Given the description of an element on the screen output the (x, y) to click on. 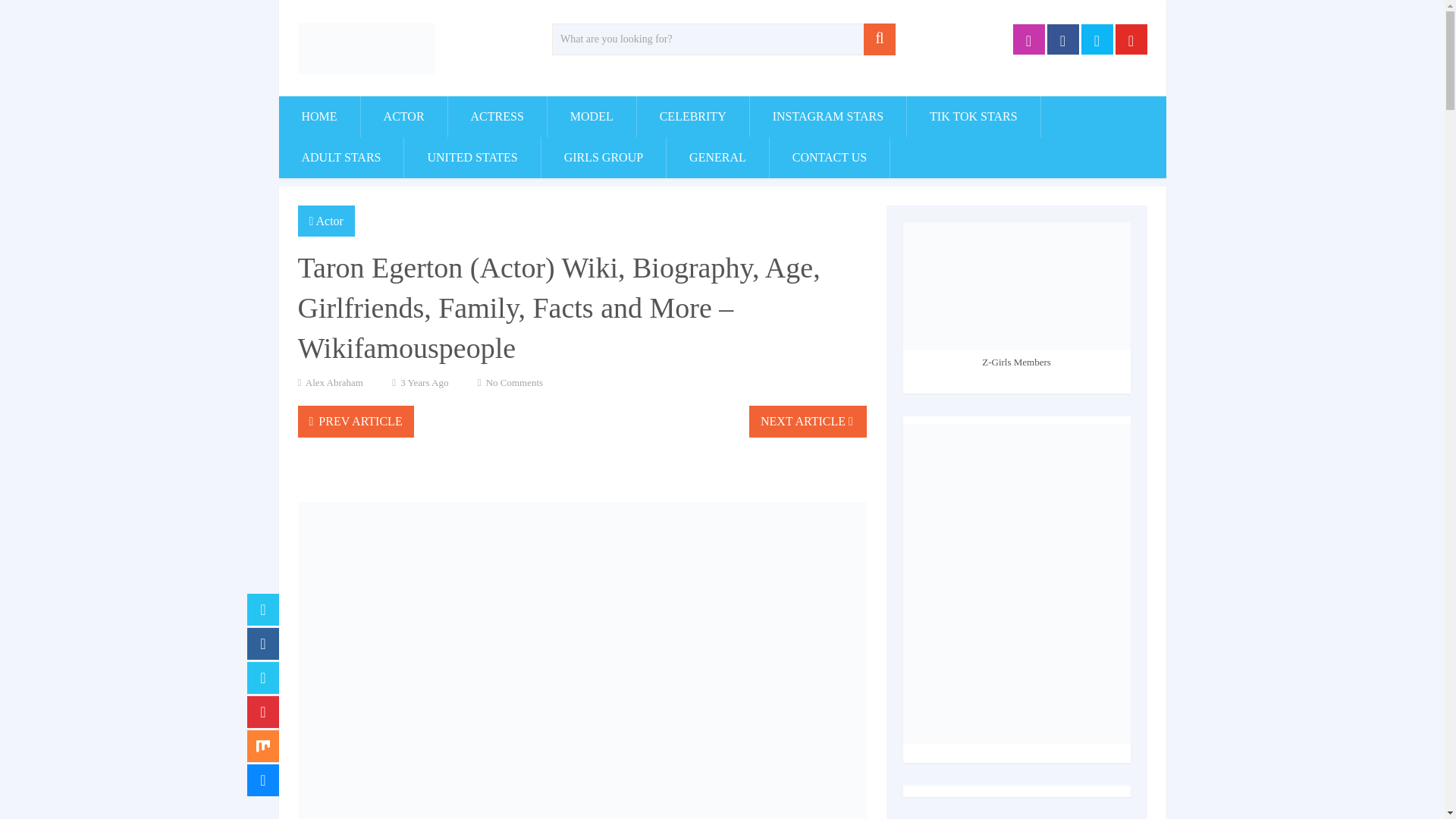
Alex Abraham (333, 382)
View all posts in Actor (328, 220)
GENERAL (717, 157)
HOME (319, 116)
CONTACT US (829, 157)
No Comments (514, 382)
PREV ARTICLE (355, 421)
GIRLS GROUP (603, 157)
Actor (328, 220)
TIK TOK STARS (973, 116)
